Given the description of an element on the screen output the (x, y) to click on. 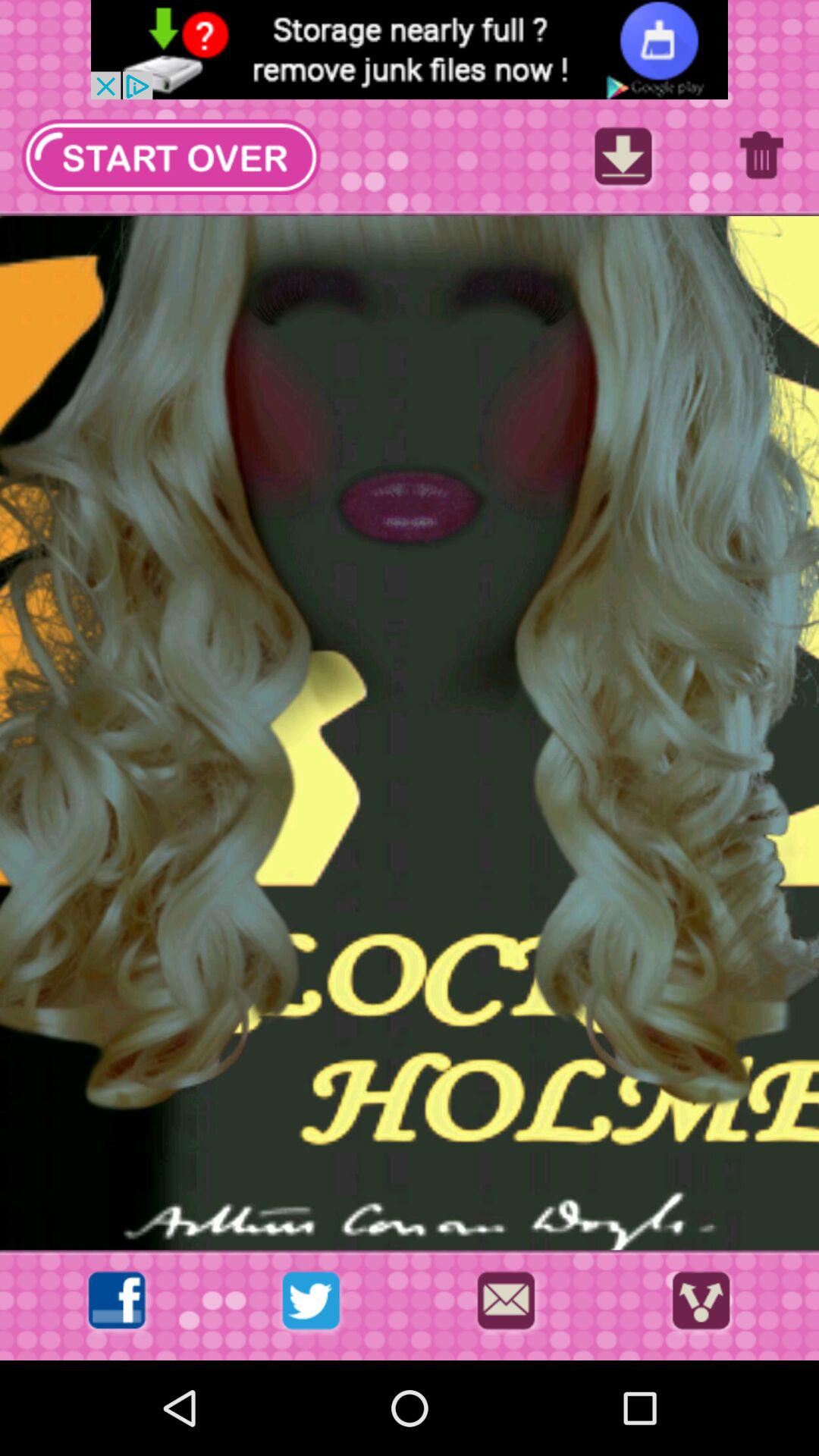
twitter icon (310, 1305)
